Given the description of an element on the screen output the (x, y) to click on. 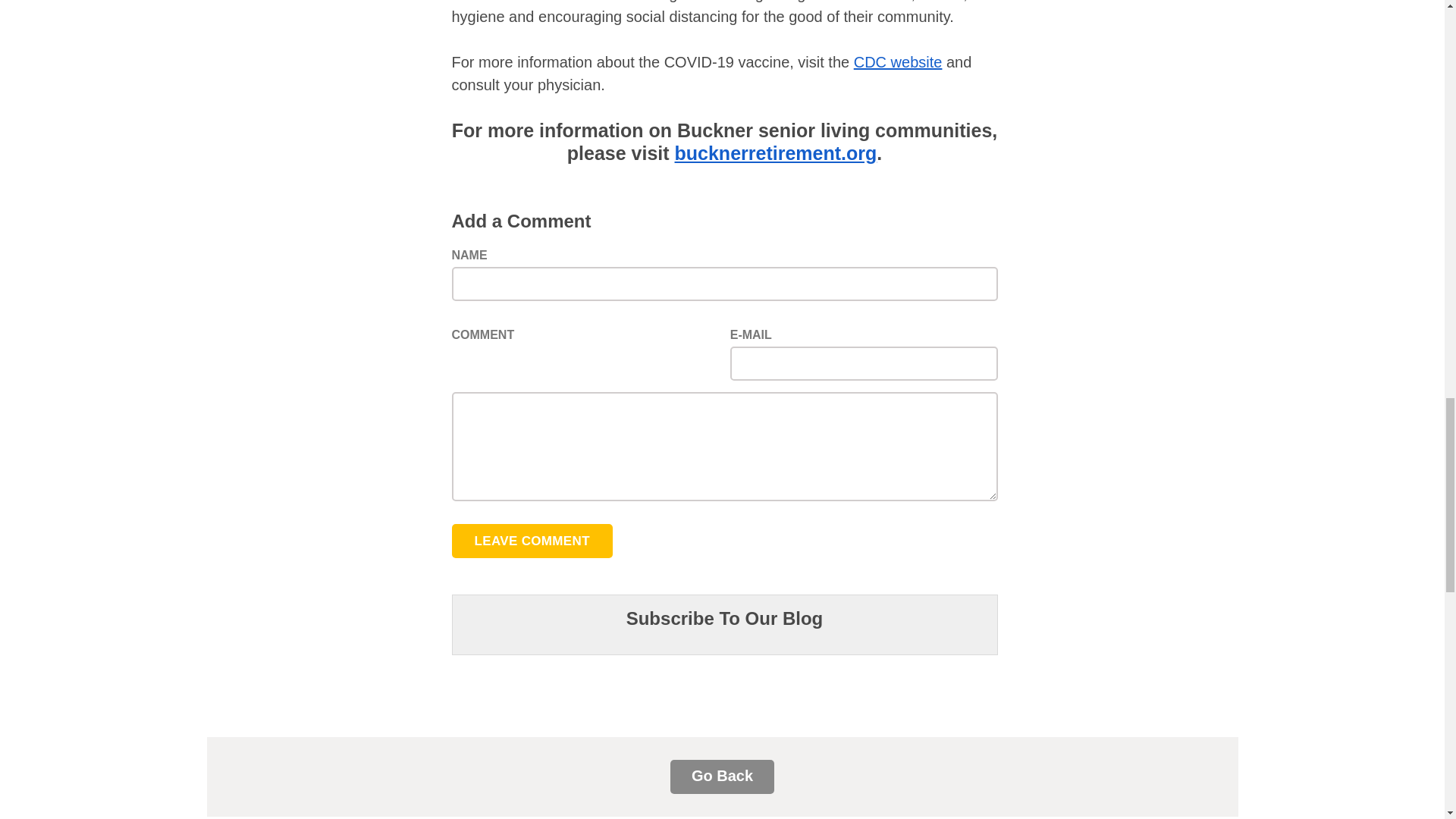
LEAVE COMMENT (531, 541)
Comment (724, 446)
Name (724, 283)
E-mail (863, 363)
CDC website (897, 64)
bucknerretirement.org (776, 155)
Go Back (721, 776)
